Given the description of an element on the screen output the (x, y) to click on. 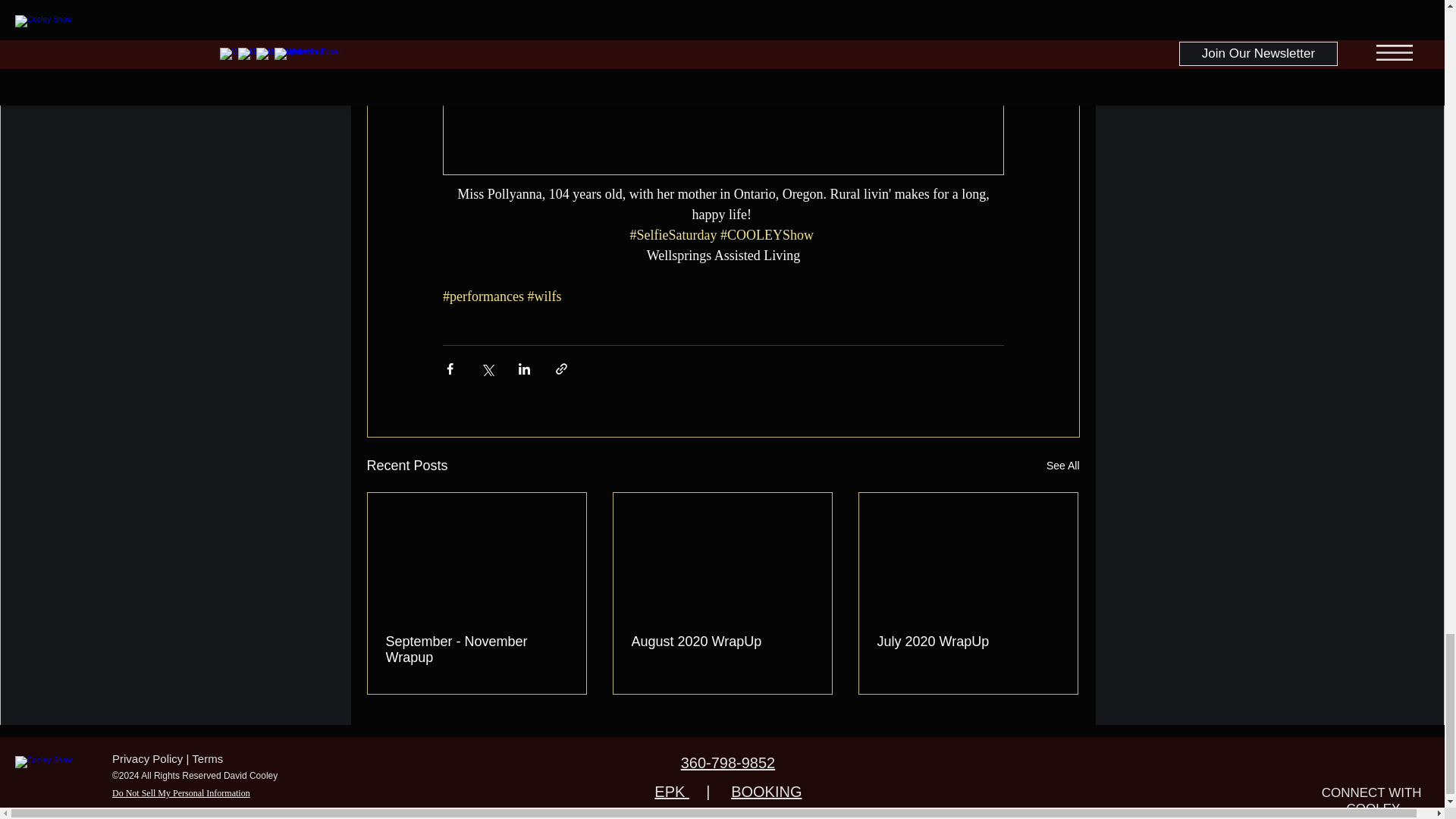
See All (1063, 465)
Privacy Policy (147, 758)
Do Not Sell My Personal Information (181, 793)
Cooley Show (57, 775)
August 2020 WrapUp (721, 641)
360-798-9852 (728, 762)
EPK  (670, 791)
Terms (207, 758)
July 2020 WrapUp (967, 641)
September - November Wrapup (476, 649)
